Given the description of an element on the screen output the (x, y) to click on. 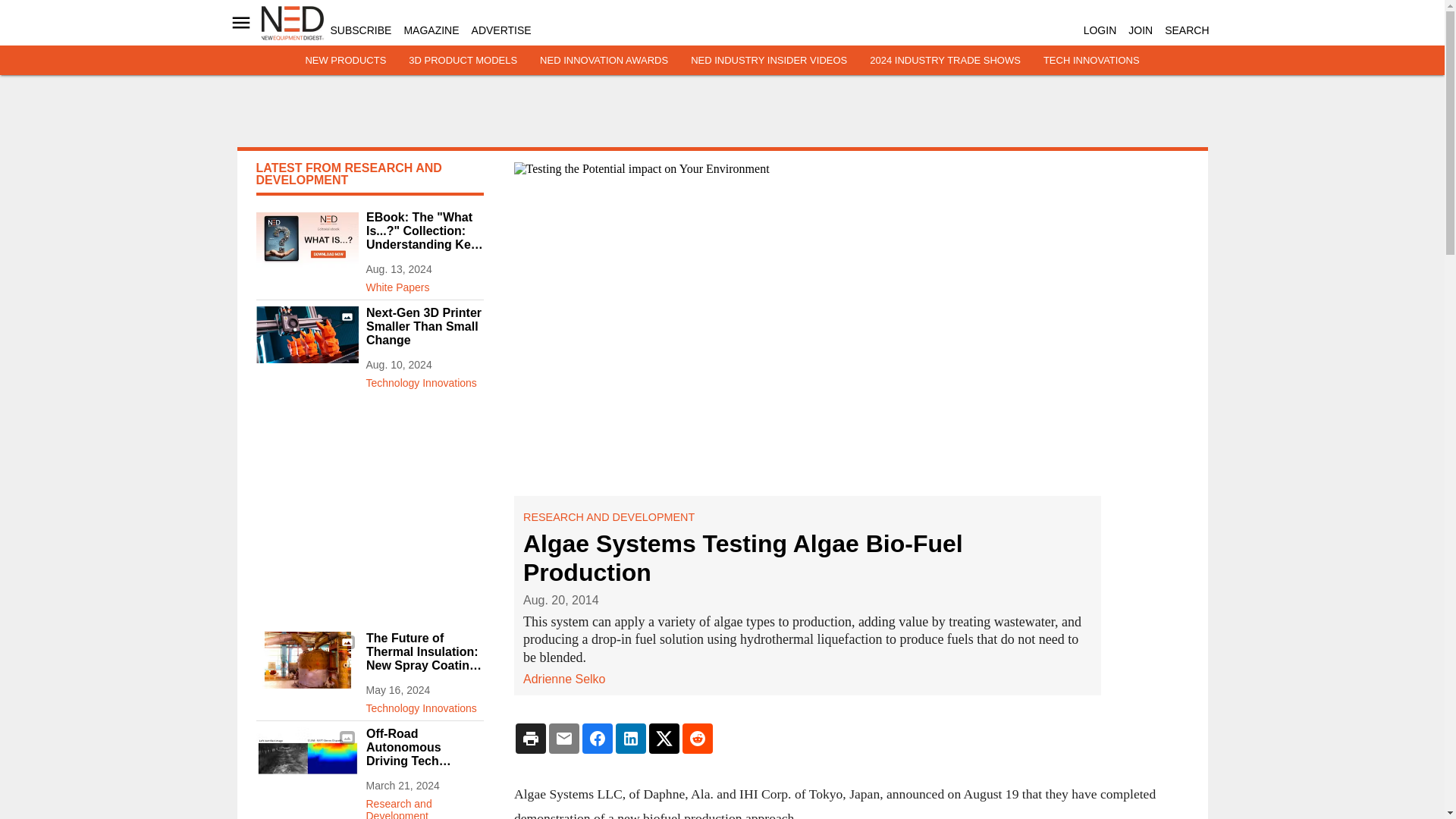
3D PRODUCT MODELS (462, 60)
ADVERTISE (501, 30)
SUBSCRIBE (360, 30)
LOGIN (1099, 30)
TECH INNOVATIONS (1091, 60)
White Papers (424, 284)
NED INDUSTRY INSIDER VIDEOS (768, 60)
2024 INDUSTRY TRADE SHOWS (944, 60)
